Given the description of an element on the screen output the (x, y) to click on. 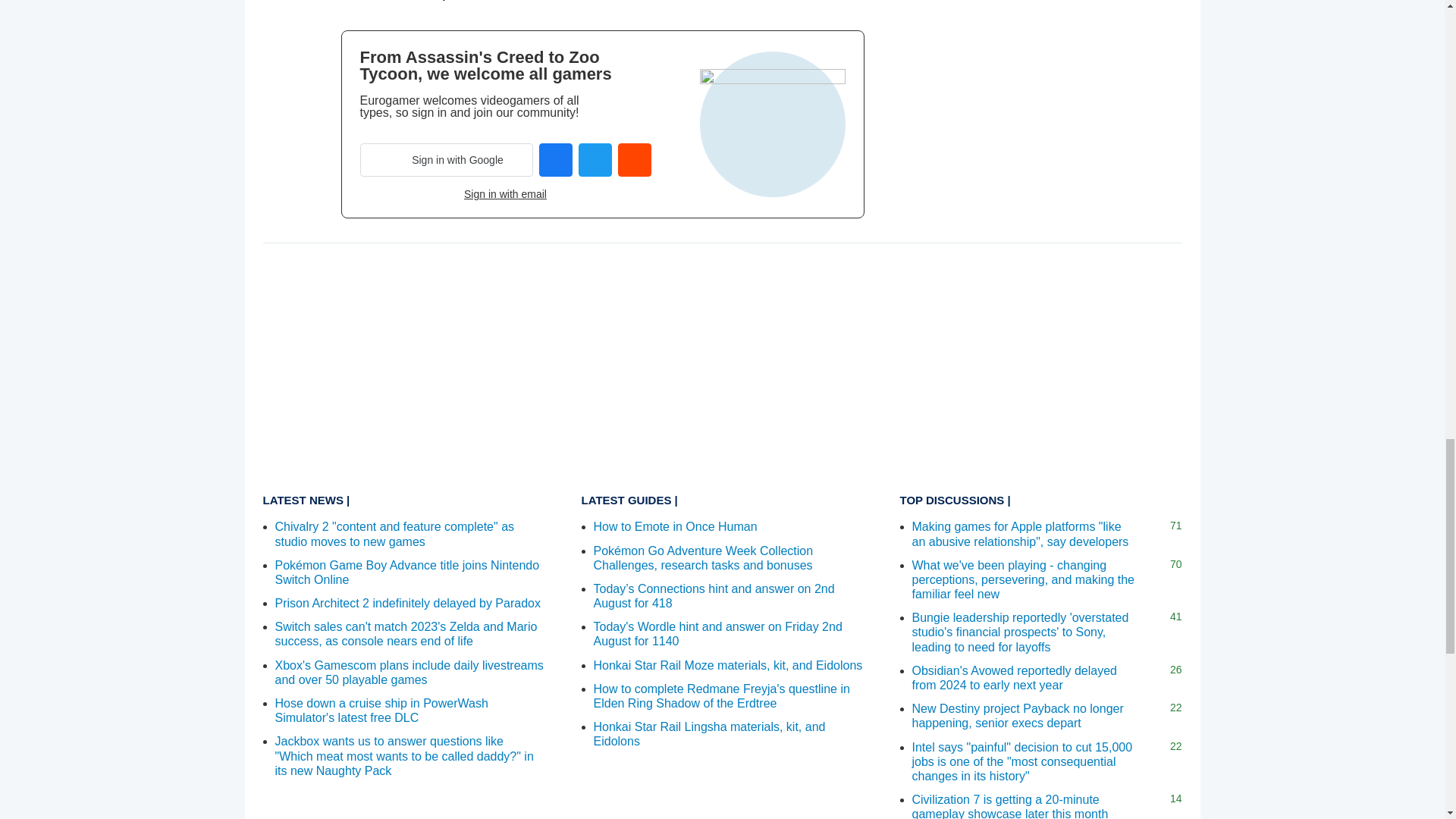
Sign in with Google (445, 159)
